Given the description of an element on the screen output the (x, y) to click on. 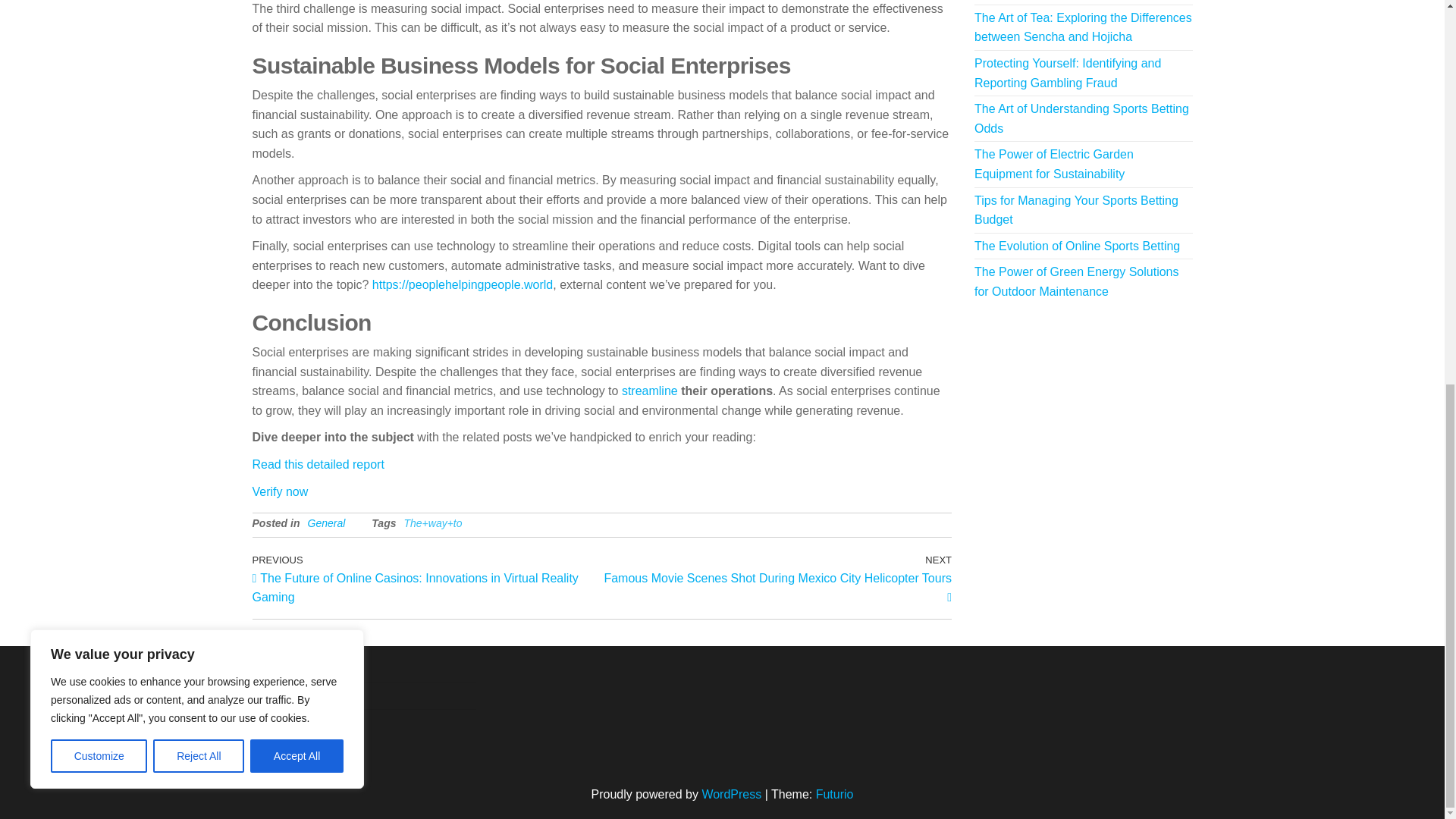
General (326, 522)
Accept All (296, 32)
Read this detailed report (317, 463)
streamline (649, 390)
Verify now (279, 491)
Reject All (198, 32)
Customize (98, 32)
